Given the description of an element on the screen output the (x, y) to click on. 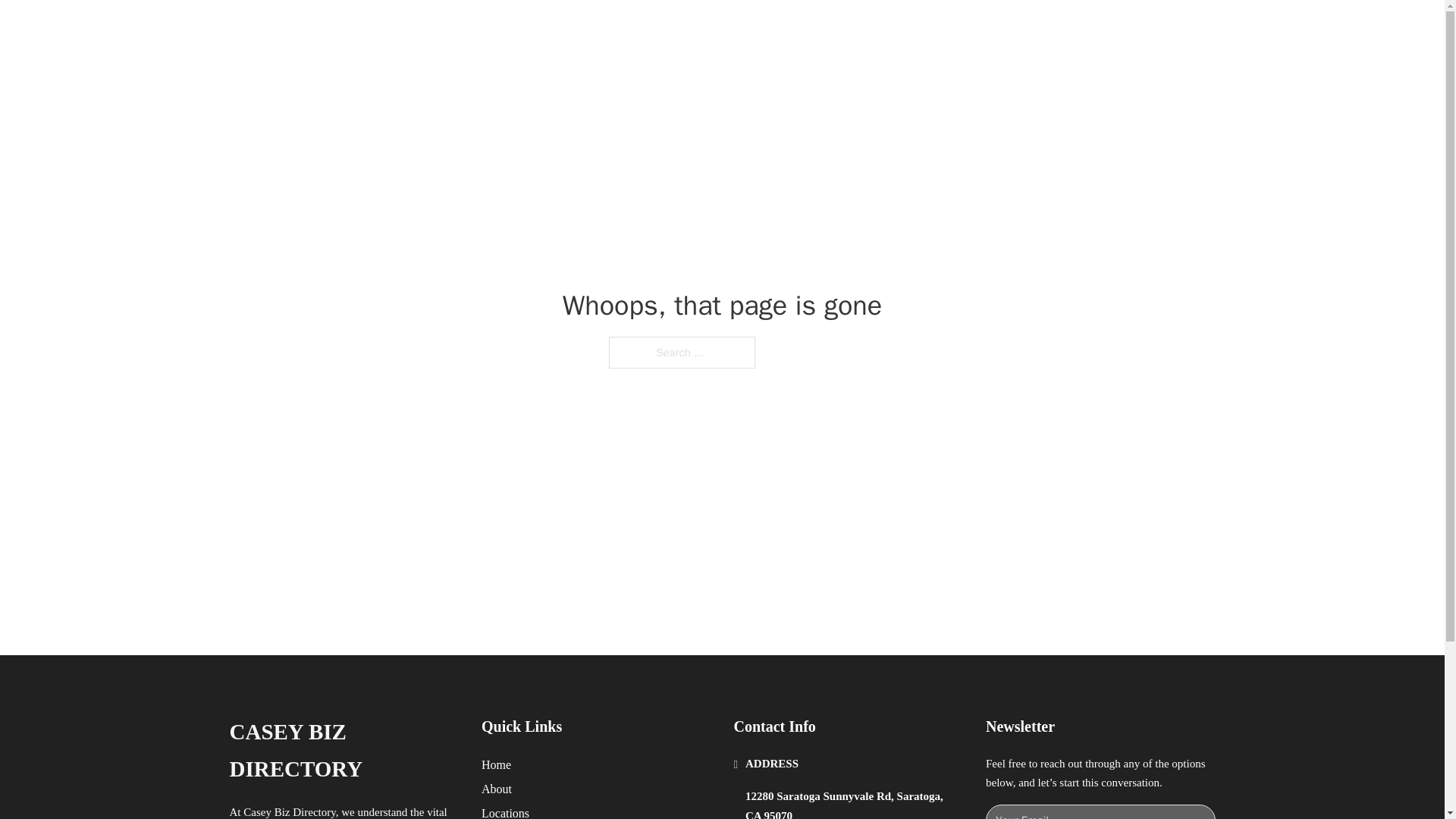
CASEY BIZ DIRECTORY (422, 28)
About (496, 788)
Home (496, 764)
Locations (505, 811)
CASEY BIZ DIRECTORY (343, 750)
